Given the description of an element on the screen output the (x, y) to click on. 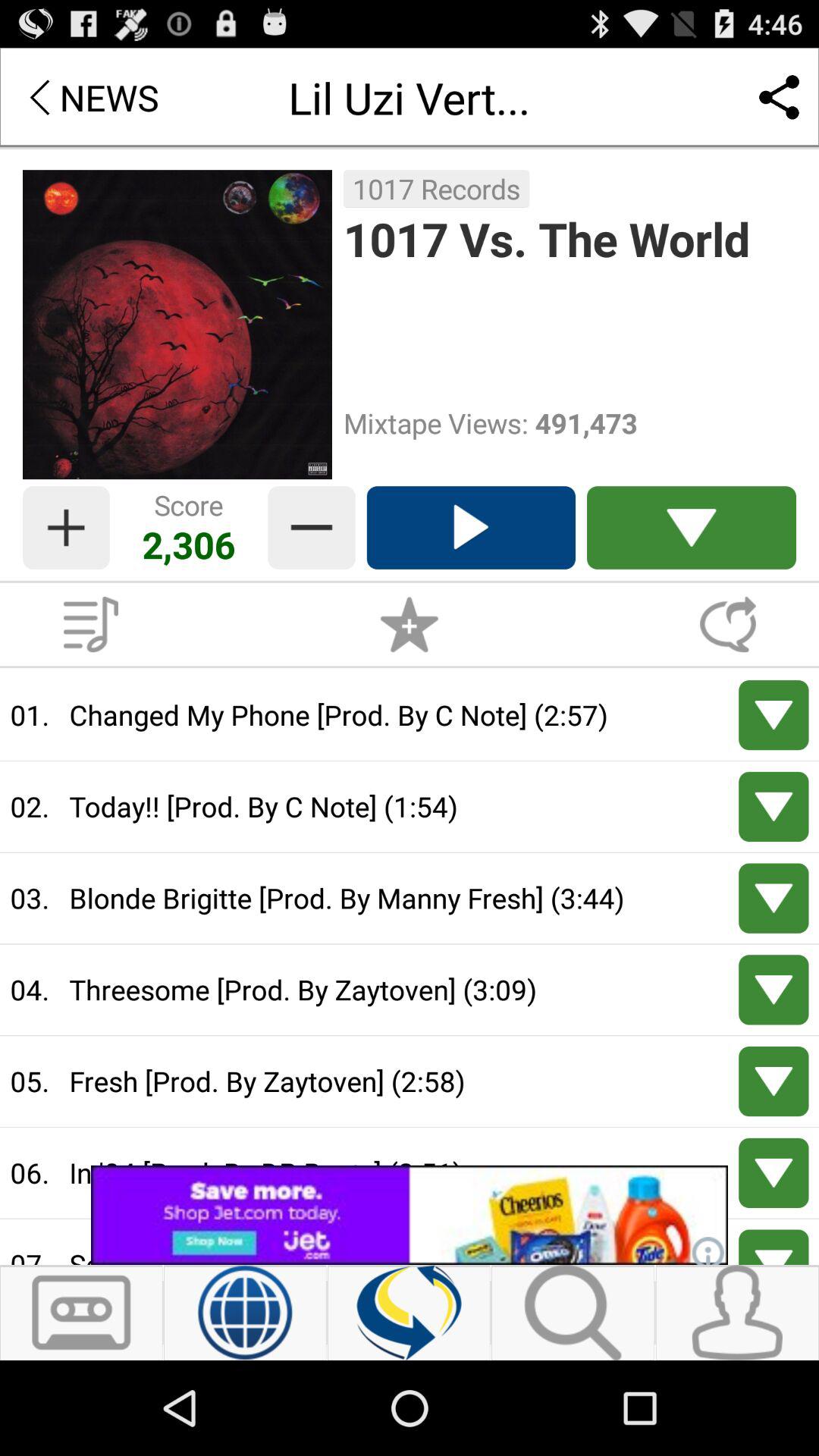
go to down (773, 715)
